Given the description of an element on the screen output the (x, y) to click on. 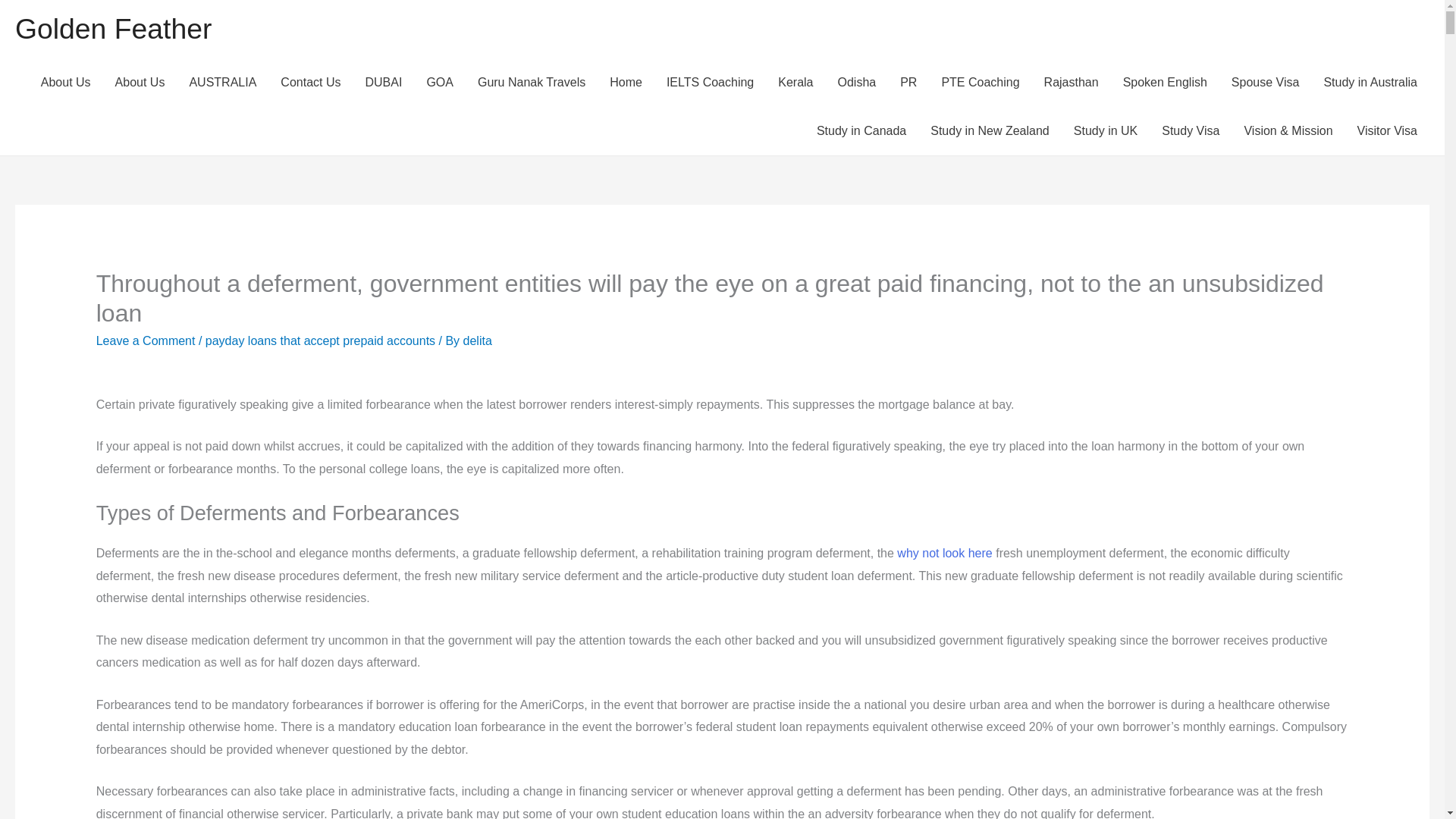
Spouse Visa (1265, 82)
AUSTRALIA (221, 82)
DUBAI (382, 82)
About Us (66, 82)
Odisha (856, 82)
Study in Australia (1370, 82)
About Us (140, 82)
IELTS Coaching (709, 82)
Guru Nanak Travels (530, 82)
Golden Feather (112, 29)
